Given the description of an element on the screen output the (x, y) to click on. 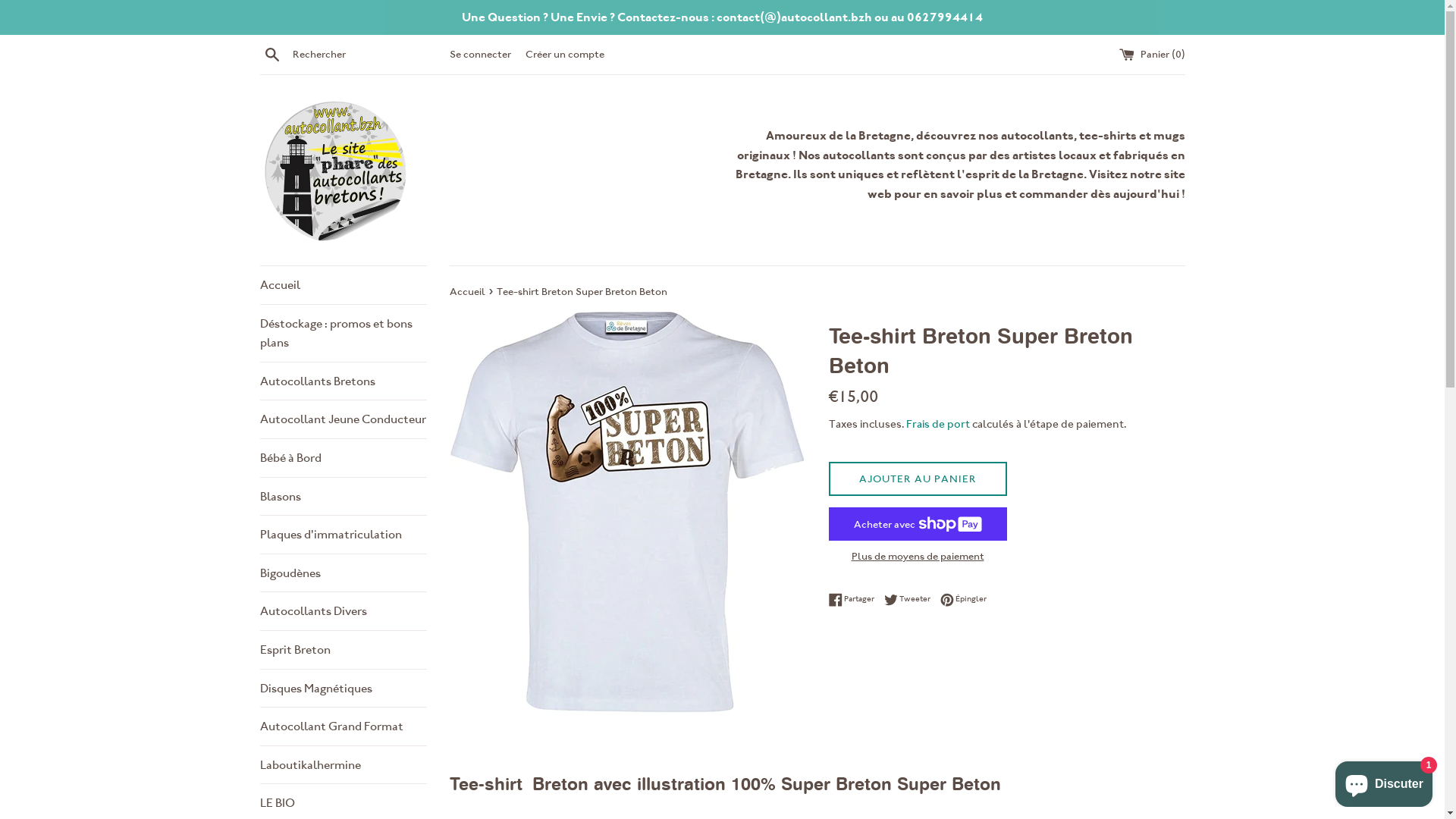
Esprit Breton Element type: text (342, 649)
Recherche Element type: text (271, 53)
Blasons Element type: text (342, 496)
Autocollant Grand Format Element type: text (342, 726)
Panier (0) Element type: text (1152, 53)
Autocollant Jeune Conducteur Element type: text (342, 419)
Tweeter
Tweeter sur Twitter Element type: text (911, 598)
Partager
Partager sur Facebook Element type: text (854, 598)
Plus de moyens de paiement Element type: text (917, 555)
Laboutikalhermine Element type: text (342, 765)
Frais de port Element type: text (937, 423)
Accueil Element type: text (467, 291)
Chat de la boutique en ligne Shopify Element type: hover (1383, 780)
Accueil Element type: text (342, 285)
Autocollants Divers Element type: text (342, 611)
Autocollants Bretons Element type: text (342, 381)
AJOUTER AU PANIER Element type: text (917, 478)
Plaques d'immatriculation Element type: text (342, 534)
Se connecter Element type: text (479, 53)
